Given the description of an element on the screen output the (x, y) to click on. 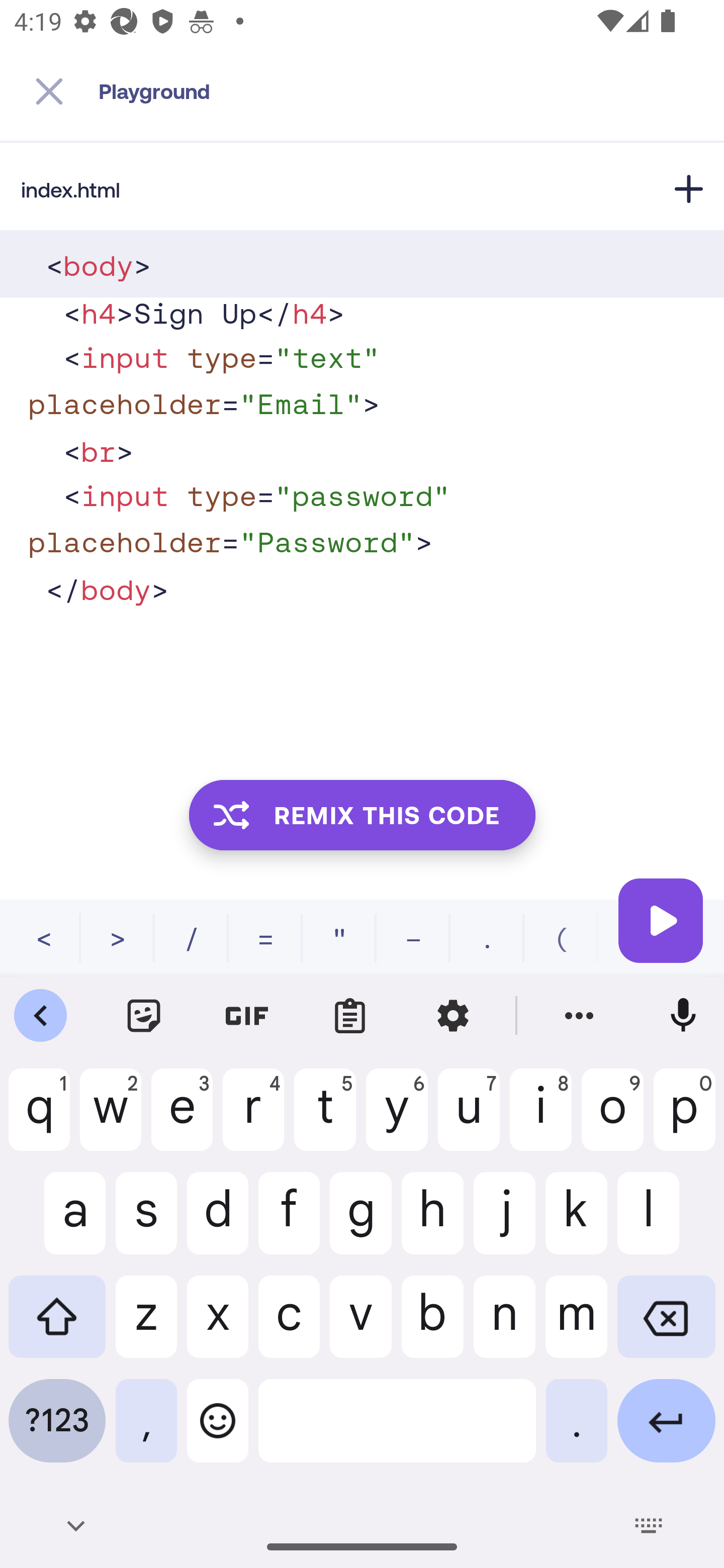
Navigate up (49, 91)
Playground (411, 91)
REMIX THIS CODE (361, 814)
Run (660, 920)
< (44, 938)
> (117, 938)
/ (191, 938)
= (265, 938)
" (339, 938)
- (413, 938)
. (487, 938)
( (561, 938)
